Given the description of an element on the screen output the (x, y) to click on. 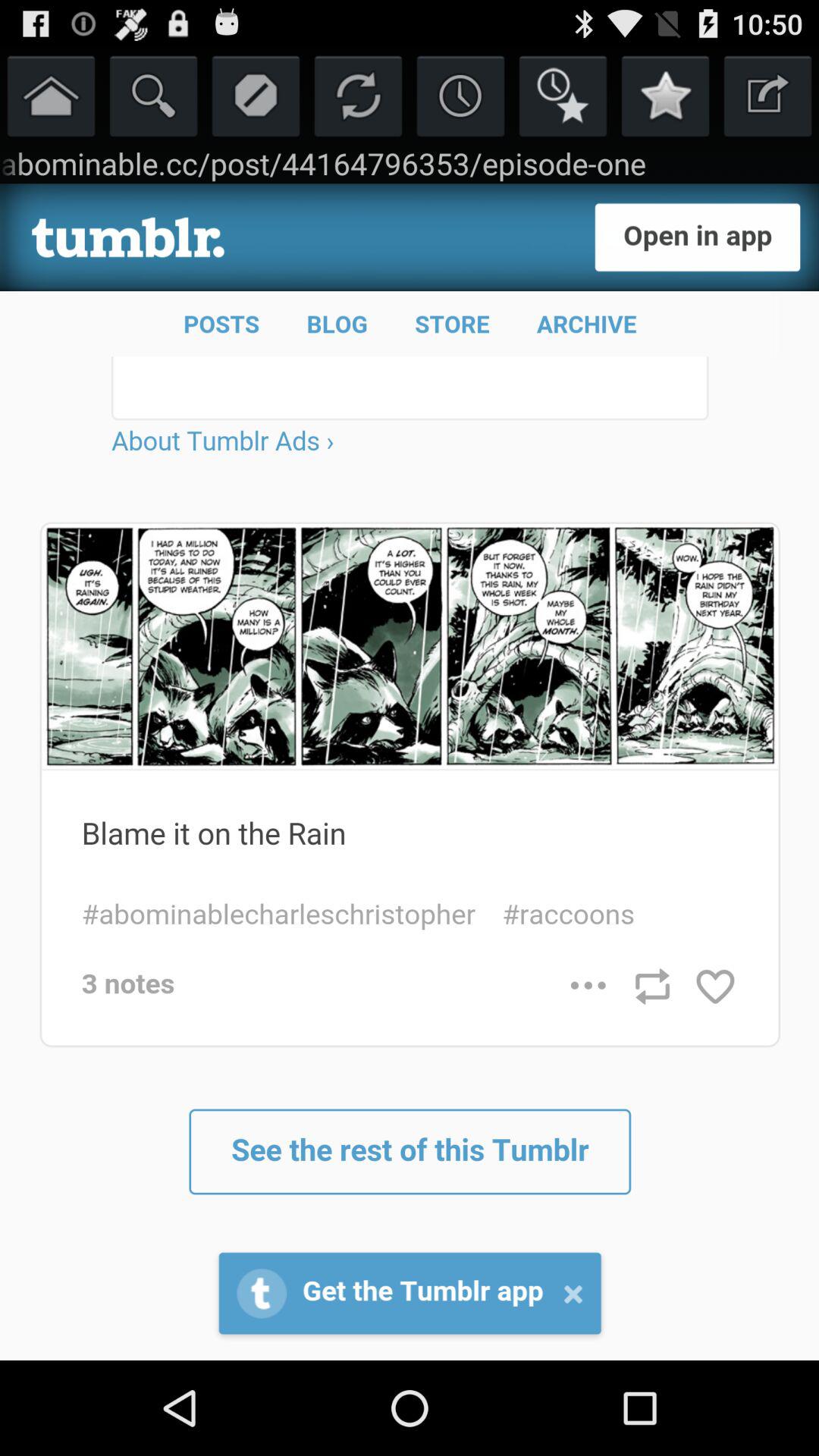
reload (358, 95)
